Given the description of an element on the screen output the (x, y) to click on. 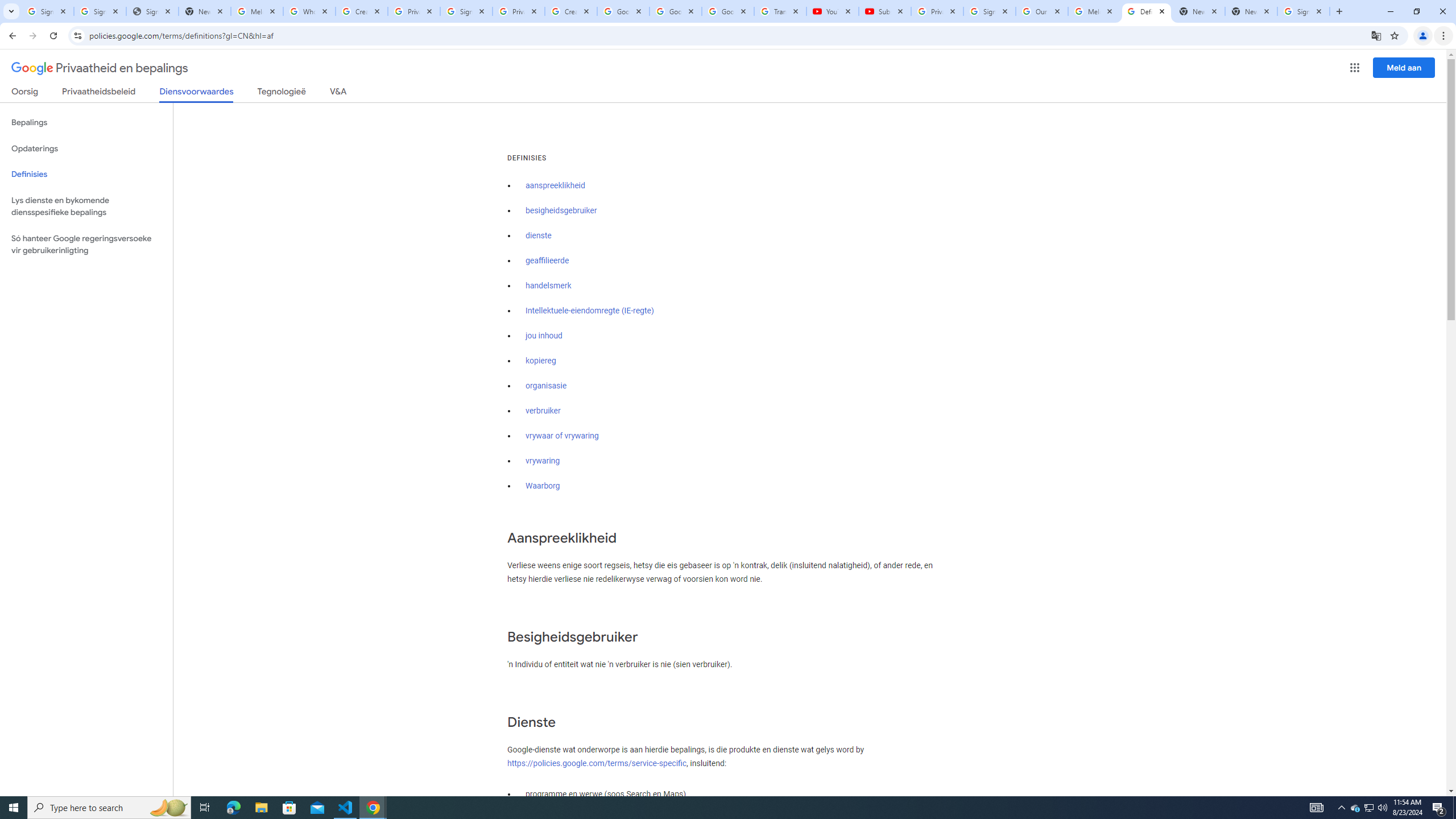
Privaatheid en bepalings (99, 68)
Bepalings (86, 122)
handelsmerk (548, 285)
vrywaar of vrywaring (561, 435)
Subscriptions - YouTube (884, 11)
Sign in - Google Accounts (99, 11)
Sign in - Google Accounts (989, 11)
